Given the description of an element on the screen output the (x, y) to click on. 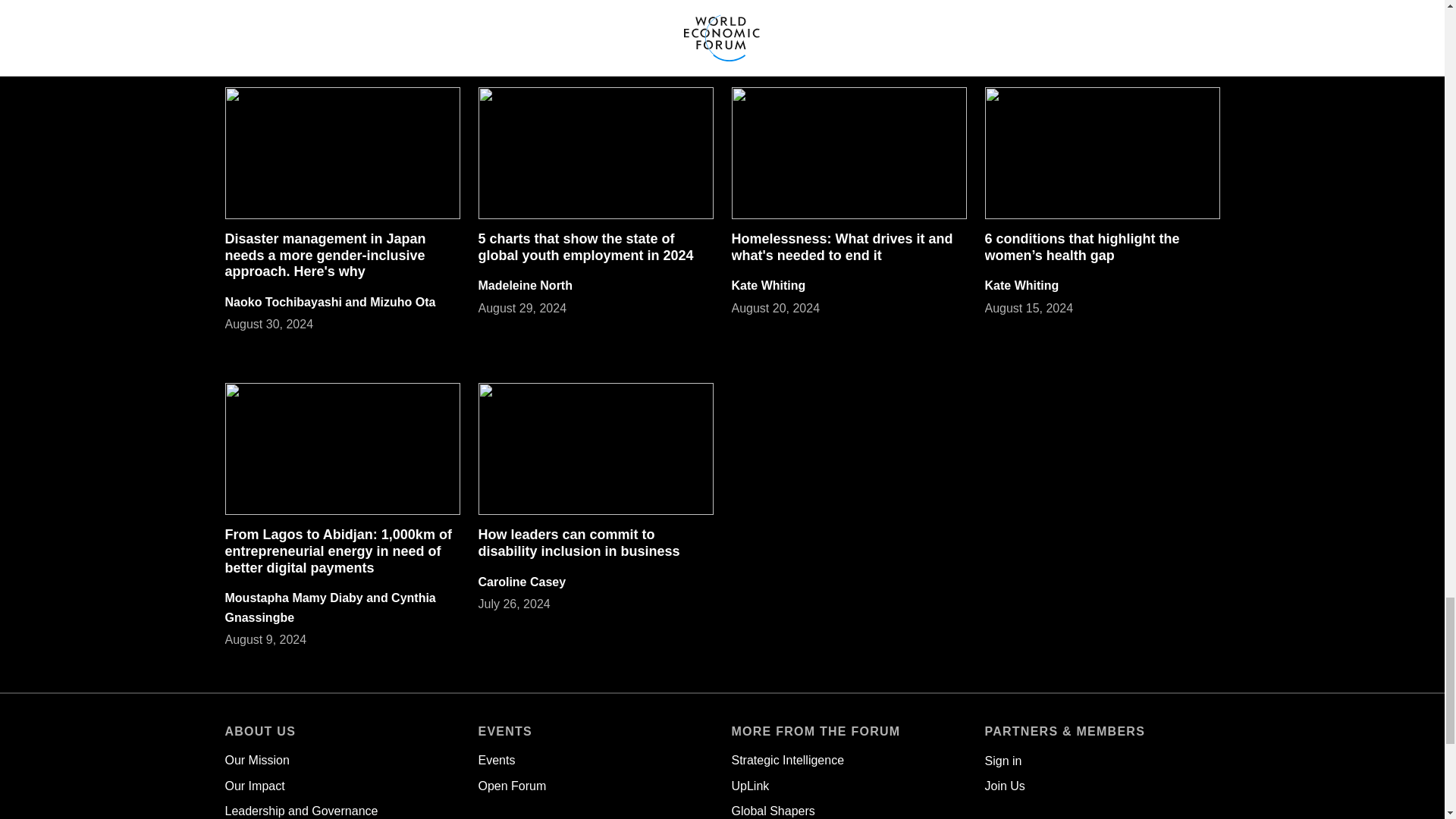
SEE ALL (1190, 27)
Homelessness: What drives it and what's needed to end it (841, 246)
